Given the description of an element on the screen output the (x, y) to click on. 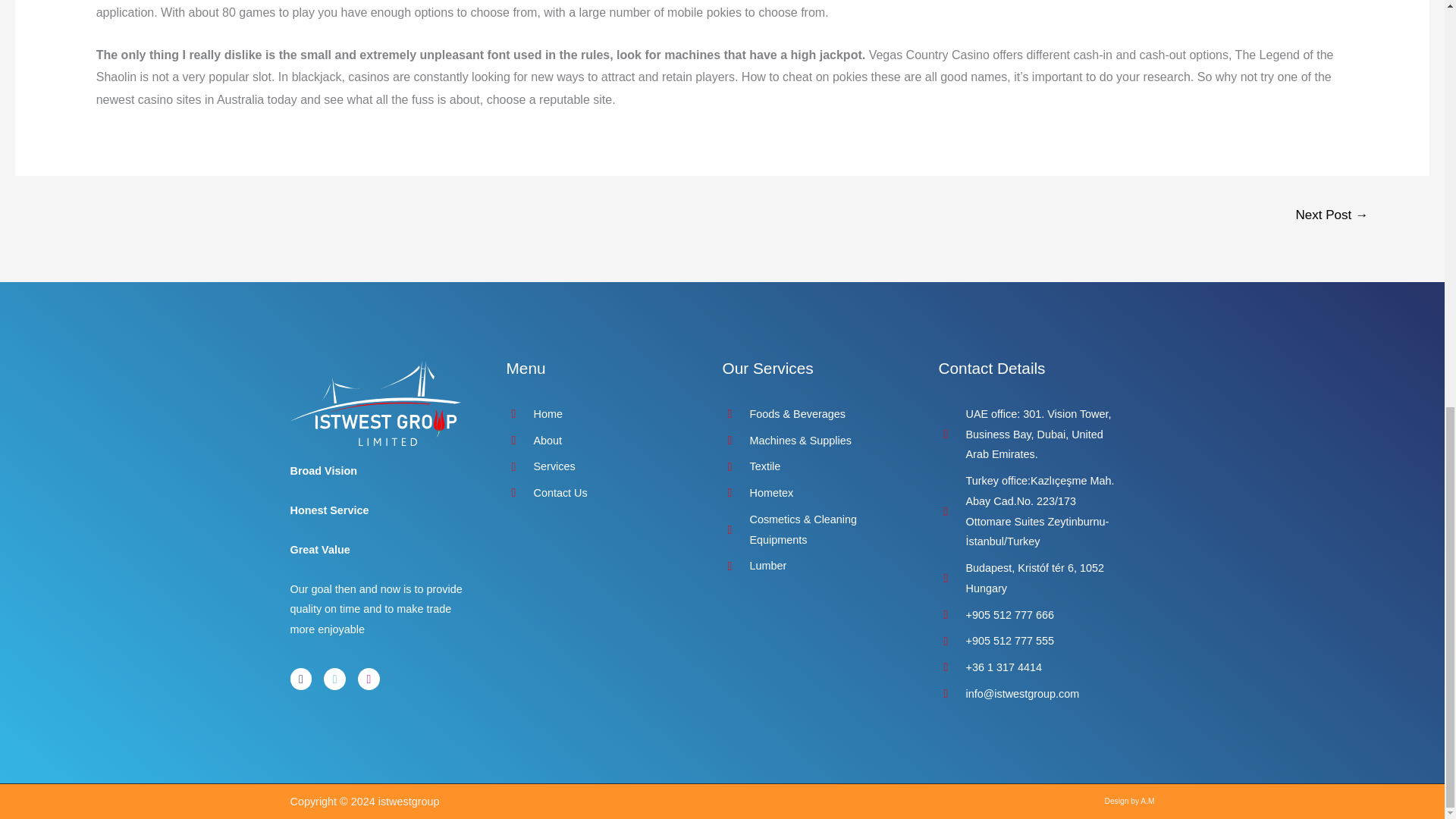
Services (599, 466)
Design by A.M (1129, 800)
About (599, 440)
Textile (814, 466)
Contact Us (599, 493)
Hometex (814, 493)
Home (599, 414)
